Given the description of an element on the screen output the (x, y) to click on. 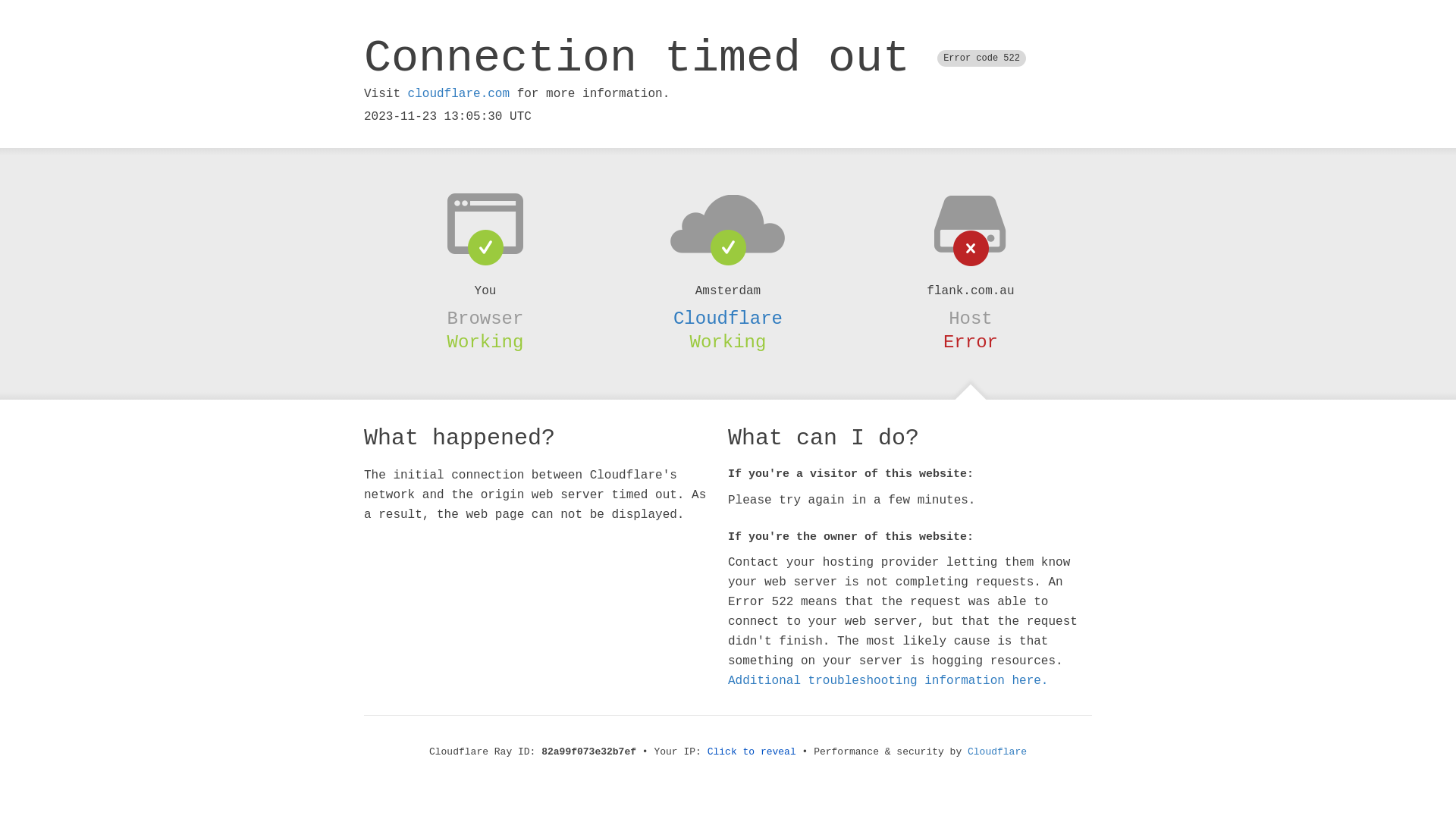
Cloudflare Element type: text (996, 751)
cloudflare.com Element type: text (458, 93)
Cloudflare Element type: text (727, 318)
Click to reveal Element type: text (751, 751)
Additional troubleshooting information here. Element type: text (888, 680)
